Given the description of an element on the screen output the (x, y) to click on. 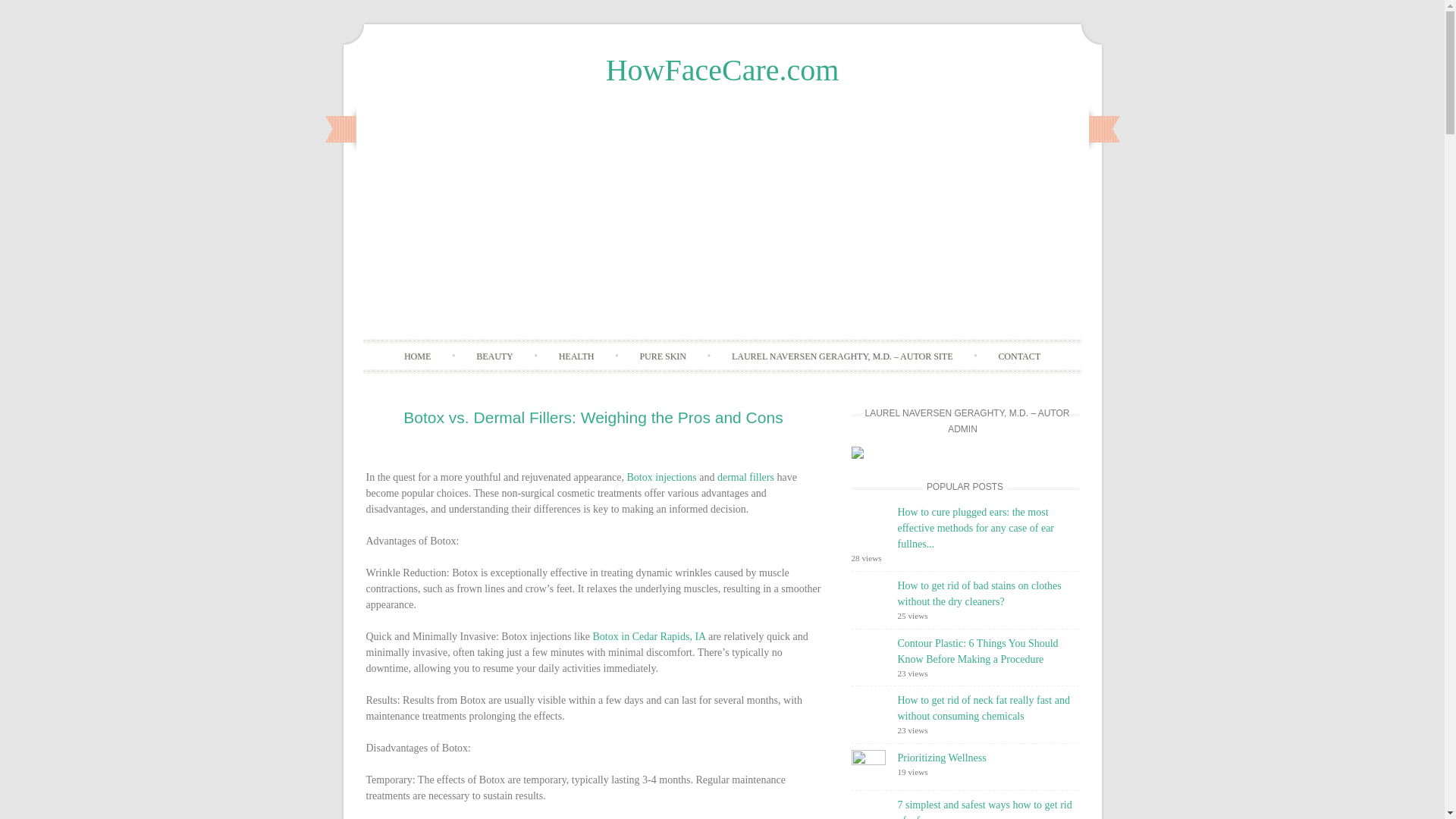
HowFaceCare.com (722, 69)
PURE SKIN (662, 356)
Botox injections (662, 477)
HEALTH (576, 356)
dermal fillers (745, 477)
Skip to content (754, 346)
Botox vs. Dermal Fillers: Weighing the Pros and Cons (593, 416)
Botox in Cedar Rapids, IA (649, 636)
BEAUTY (494, 356)
CONTACT (1018, 356)
HOME (416, 356)
